Given the description of an element on the screen output the (x, y) to click on. 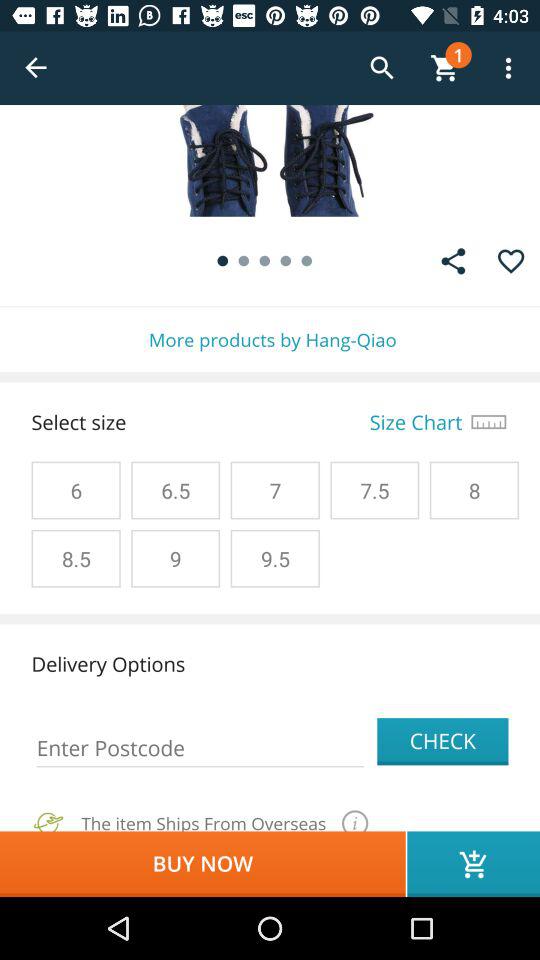
like button (510, 261)
